Given the description of an element on the screen output the (x, y) to click on. 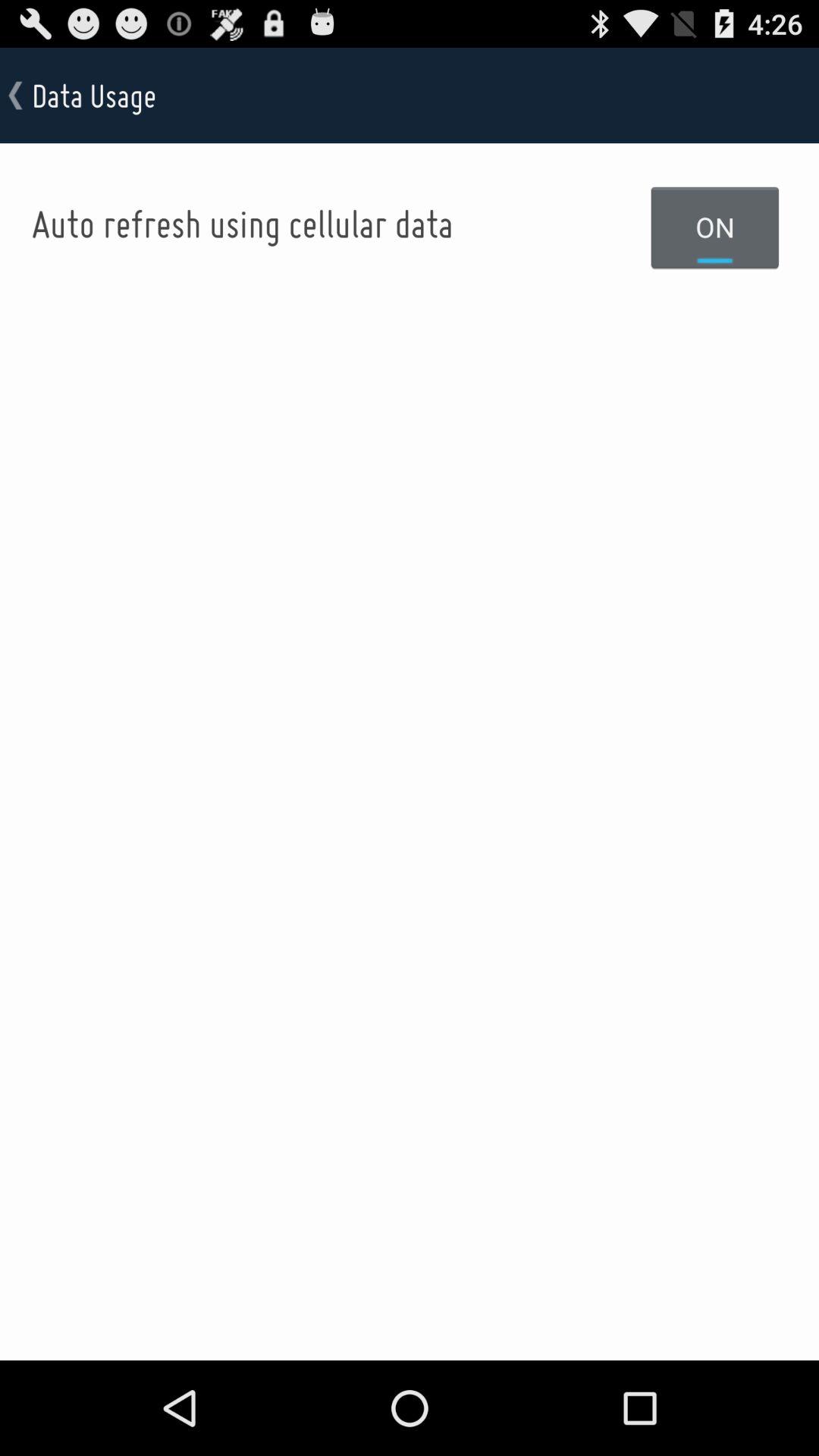
flip to the on item (714, 226)
